Given the description of an element on the screen output the (x, y) to click on. 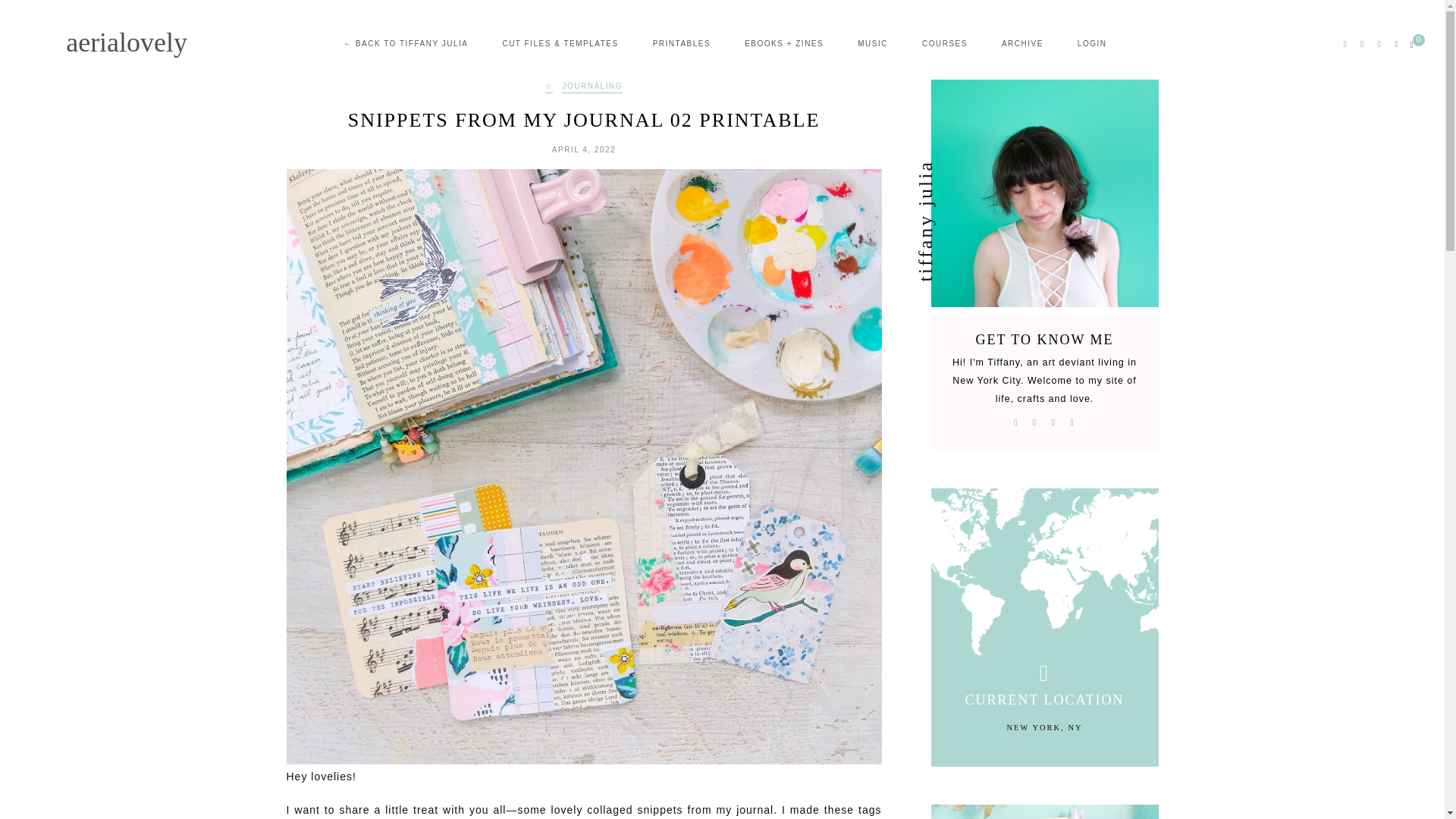
ARCHIVE (1022, 43)
APRIL 4, 2022 (583, 149)
aerialovely (126, 45)
COURSES (944, 43)
PRINTABLES (681, 43)
JOURNALING (591, 87)
